Given the description of an element on the screen output the (x, y) to click on. 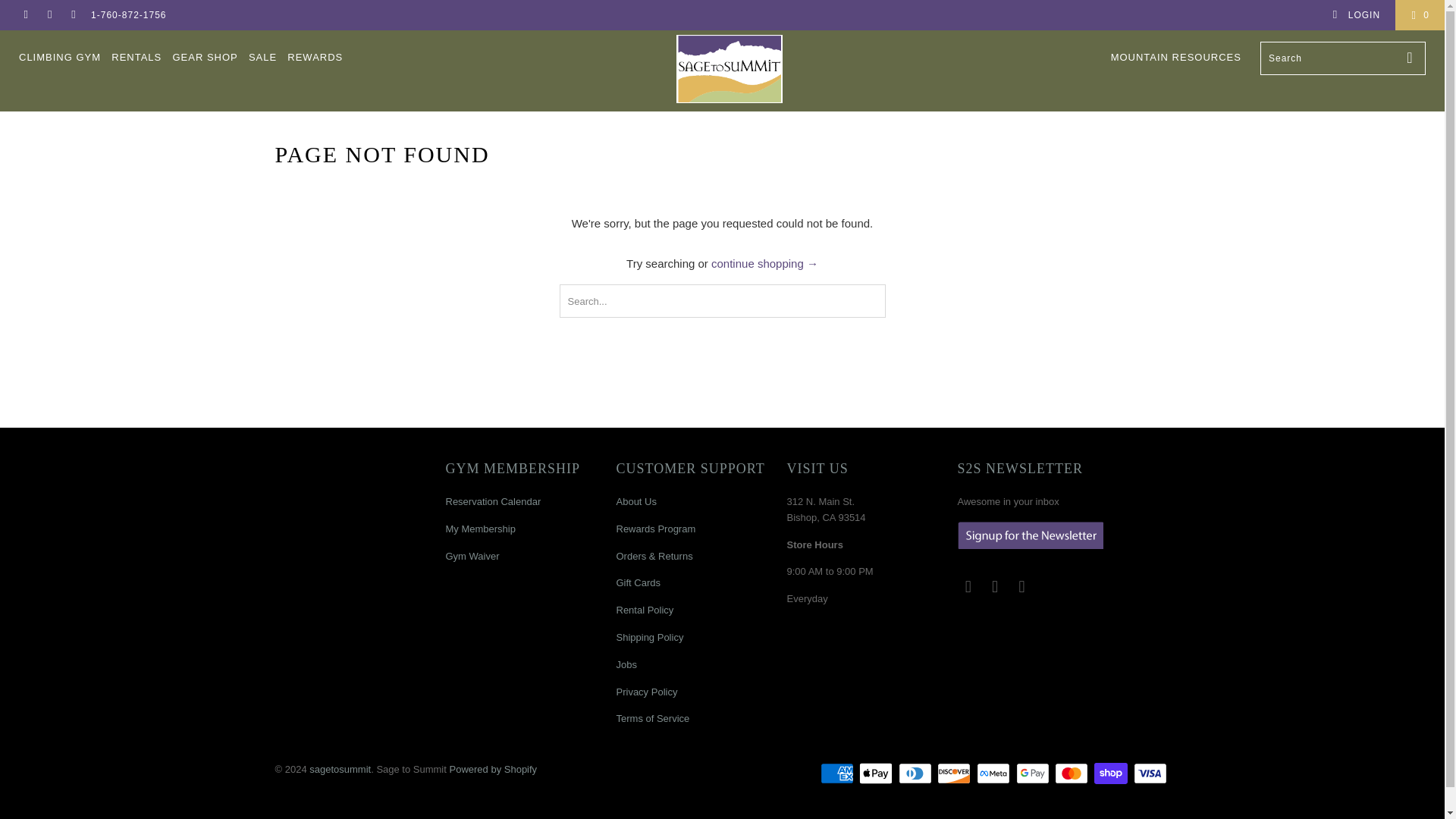
Google Pay (1034, 773)
MOUNTAIN RESOURCES (1175, 57)
1-760-872-1756 (127, 15)
My Account  (1355, 15)
CLIMBING GYM (59, 57)
sagetosummit  on Facebook (25, 14)
sagetosummit  on Instagram (73, 14)
RENTALS (136, 57)
Shop Pay (1112, 773)
Diners Club (916, 773)
